Given the description of an element on the screen output the (x, y) to click on. 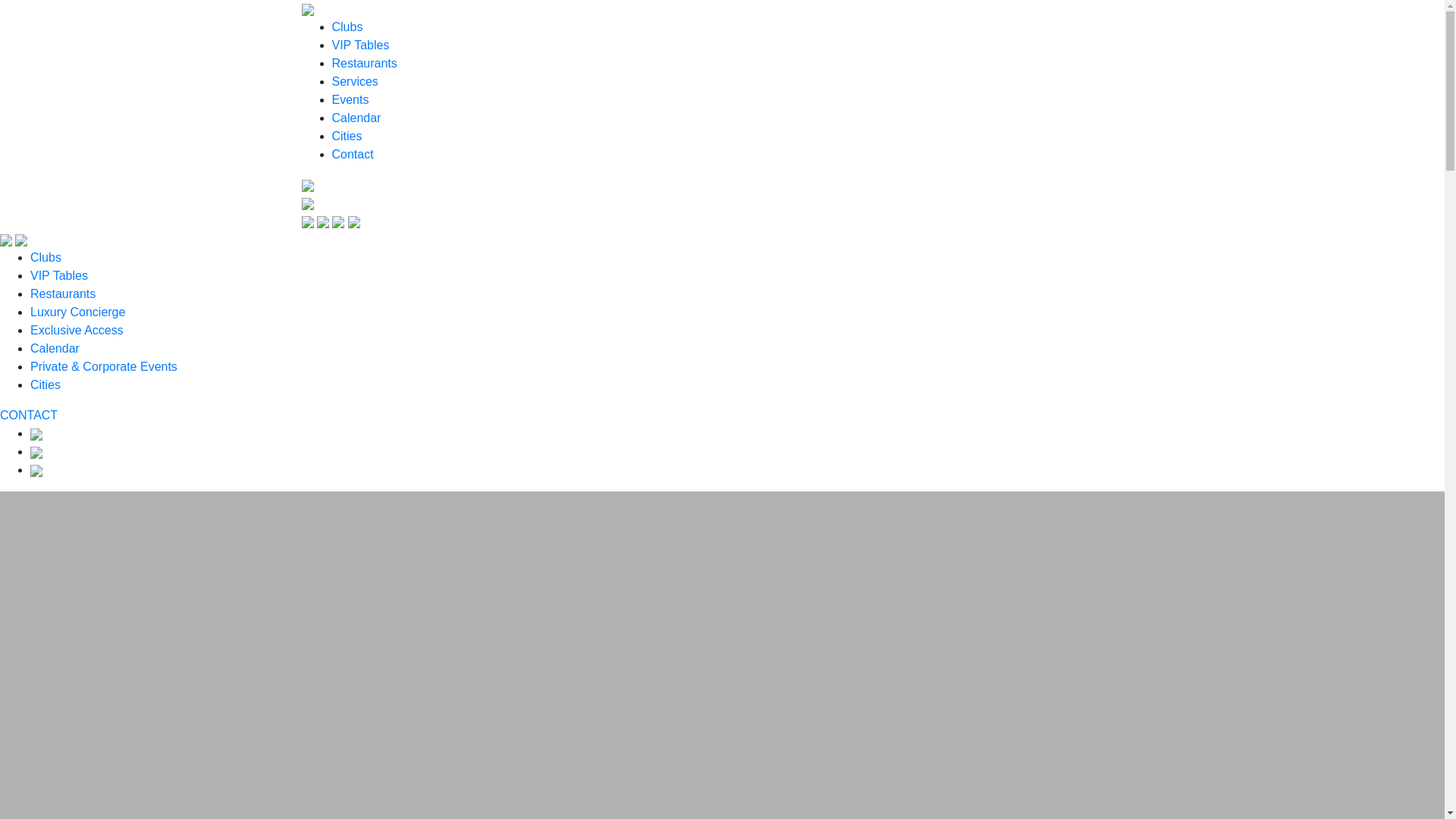
Luxury Concierge (77, 311)
Services (354, 81)
VIP Tables (58, 275)
CONTACT (29, 414)
Clubs (45, 256)
Calendar (55, 348)
Cities (346, 135)
Events (350, 99)
Clubs (346, 26)
Contact (352, 154)
VIP Tables (360, 44)
Cities (45, 384)
Restaurants (63, 293)
Restaurants (364, 62)
Exclusive Access (76, 329)
